Given the description of an element on the screen output the (x, y) to click on. 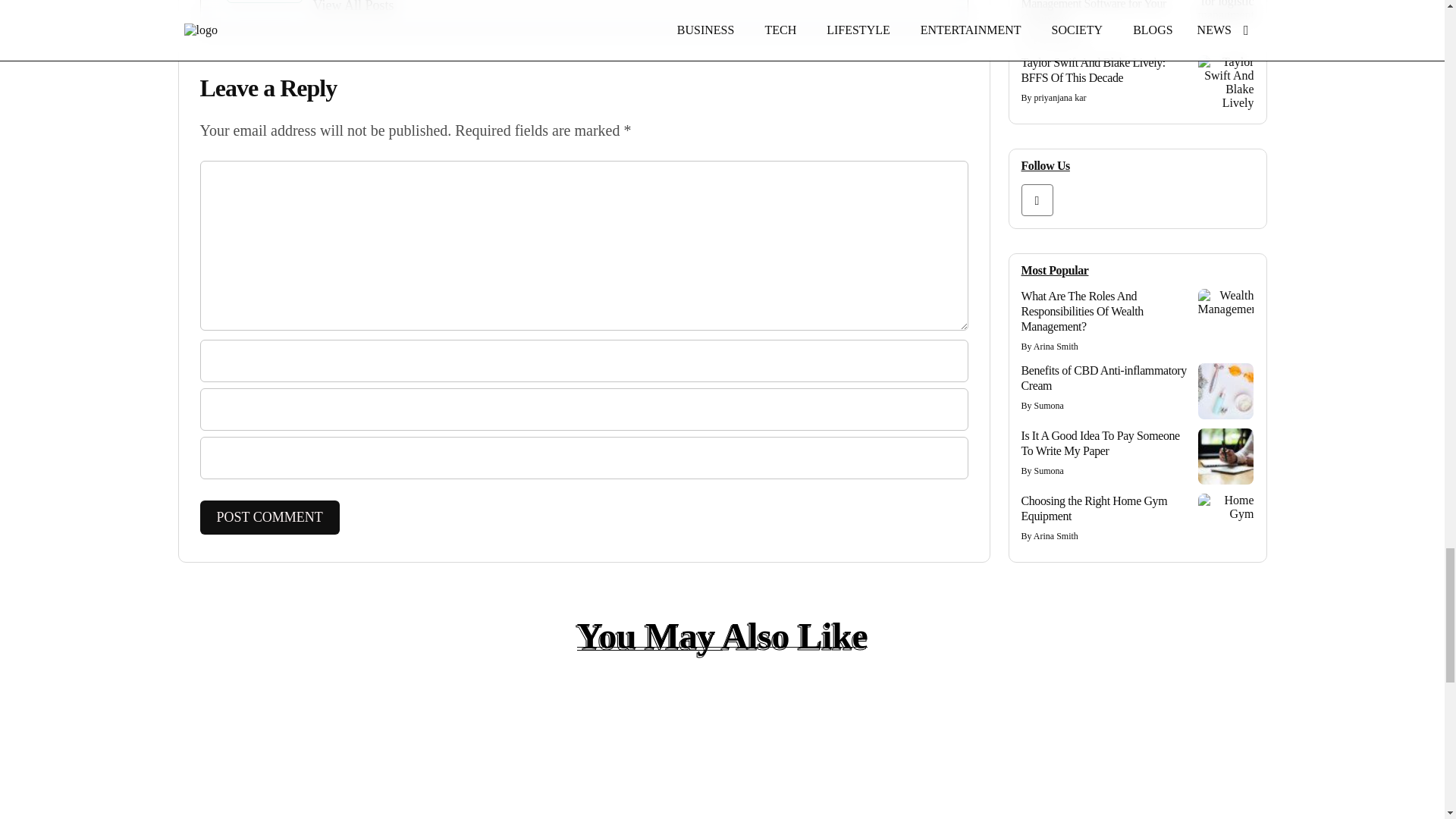
Post Comment (269, 517)
